Given the description of an element on the screen output the (x, y) to click on. 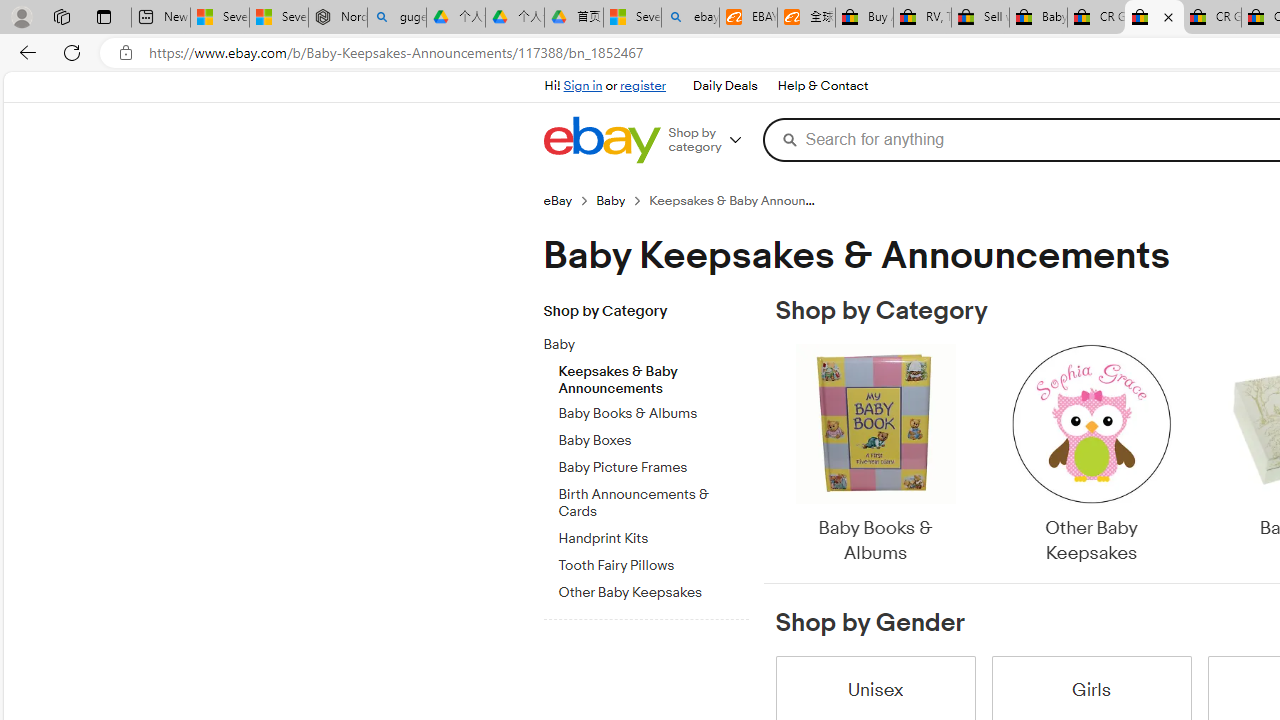
Baby Boxes (653, 437)
Tab actions menu (104, 16)
register (642, 85)
View site information (125, 53)
Baby (637, 345)
Other Baby Keepsakes (1090, 455)
Handprint Kits (653, 535)
Birth Announcements & Cards (653, 504)
Baby Picture Frames (653, 468)
ebay - Search (690, 17)
Back (24, 52)
Personal Profile (21, 16)
